Given the description of an element on the screen output the (x, y) to click on. 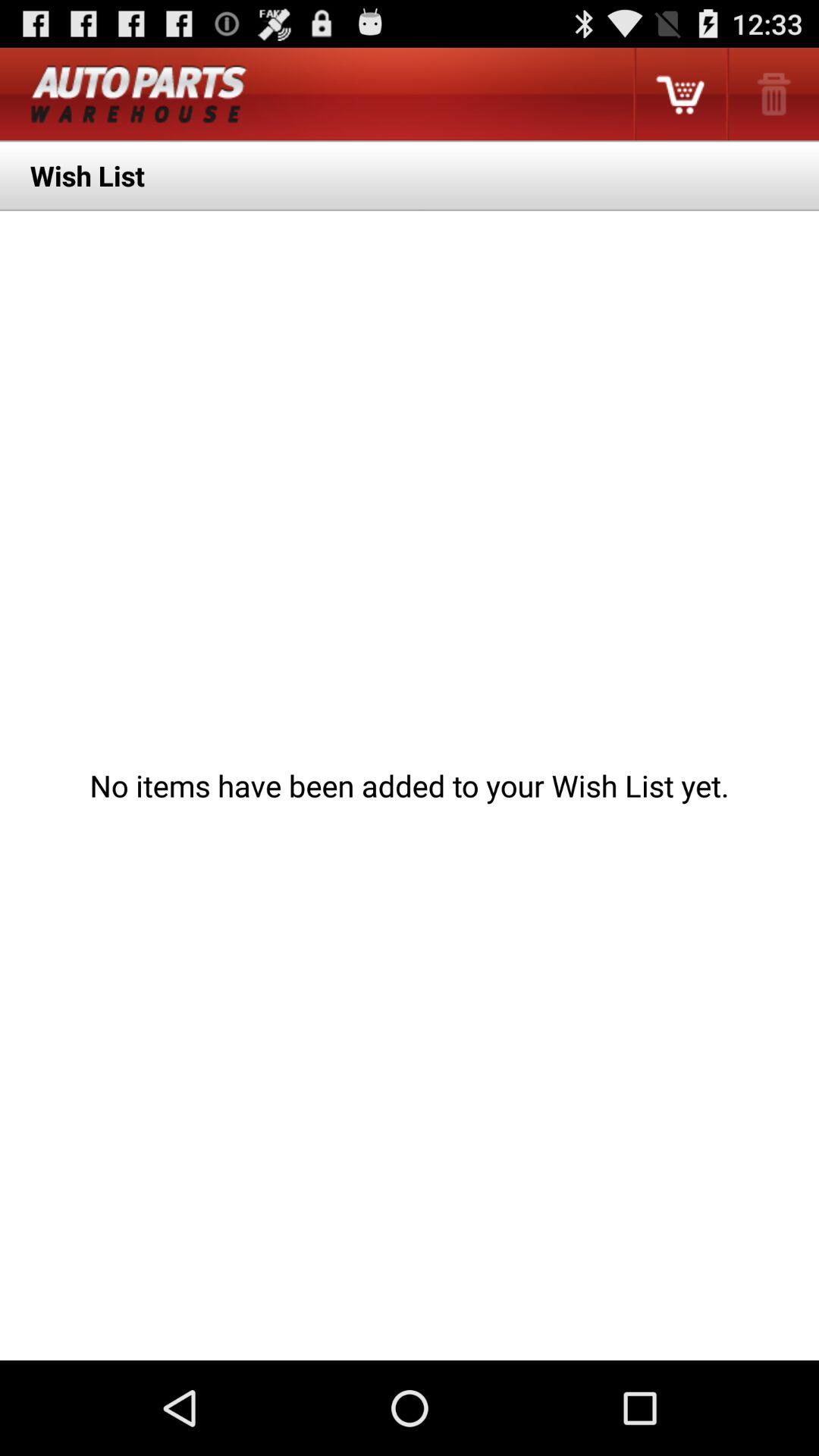
go to autoparts (138, 93)
